Given the description of an element on the screen output the (x, y) to click on. 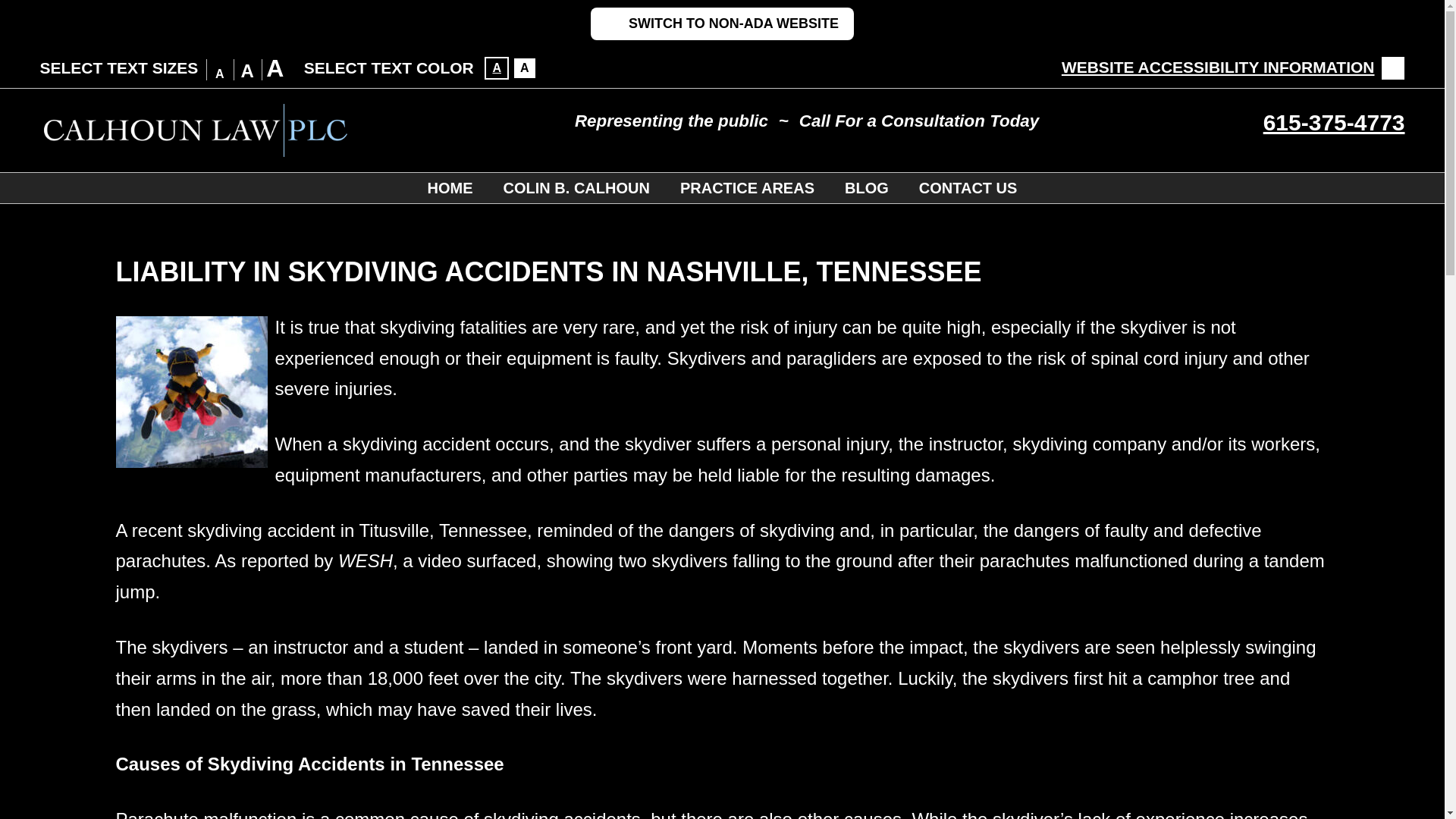
SWITCH TO NON-ADA WEBSITE (722, 23)
HOME (449, 187)
A (496, 67)
COLIN B. CALHOUN (576, 187)
Invert Colors (524, 67)
Invert Colors (496, 67)
Skydiving (190, 391)
PRACTICE AREAS (747, 187)
A (524, 67)
Click to view external accessibility article (1233, 67)
615-375-4773 (1334, 122)
WEBSITE ACCESSIBILITY INFORMATION (1233, 67)
